Given the description of an element on the screen output the (x, y) to click on. 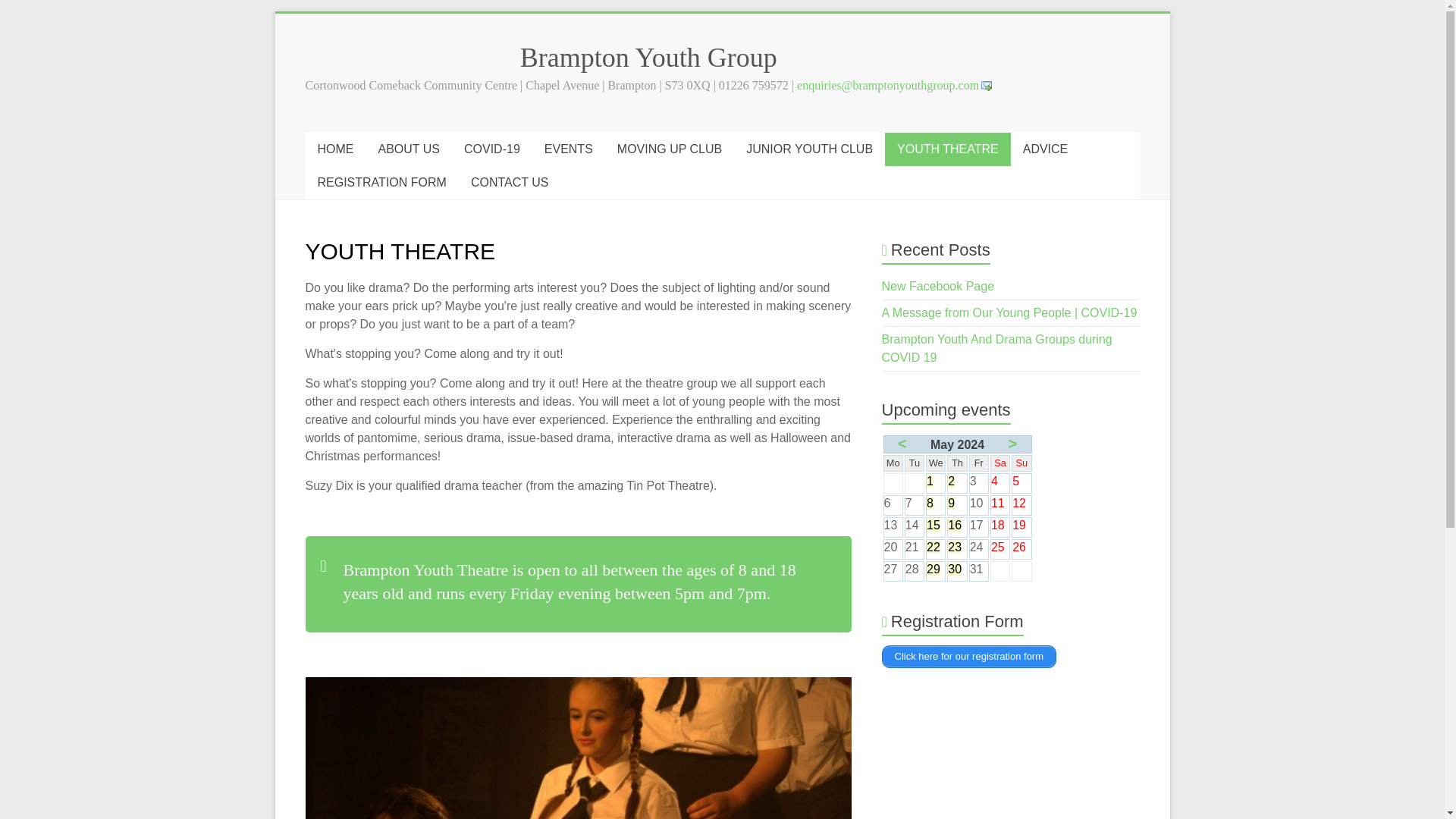
1 (929, 481)
REGISTRATION FORM (381, 182)
22 (933, 546)
ABOUT US (408, 149)
2 (951, 481)
JUNIOR YOUTH CLUB (809, 149)
Youth Theatre 9 (152, 748)
29 (933, 568)
Brampton Youth Group (648, 57)
YOUTH THEATRE (947, 149)
COVID-19 (491, 149)
Brampton Youth And Drama Groups during COVID 19 (997, 347)
MOVING UP CLUB (669, 149)
New Facebook Page (938, 286)
EVENTS (568, 149)
